Given the description of an element on the screen output the (x, y) to click on. 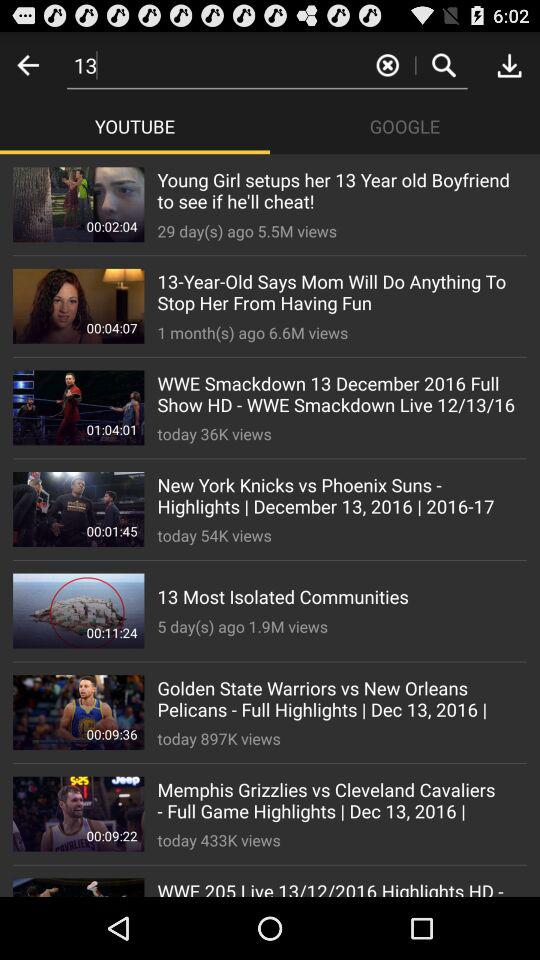
search button (443, 64)
